Given the description of an element on the screen output the (x, y) to click on. 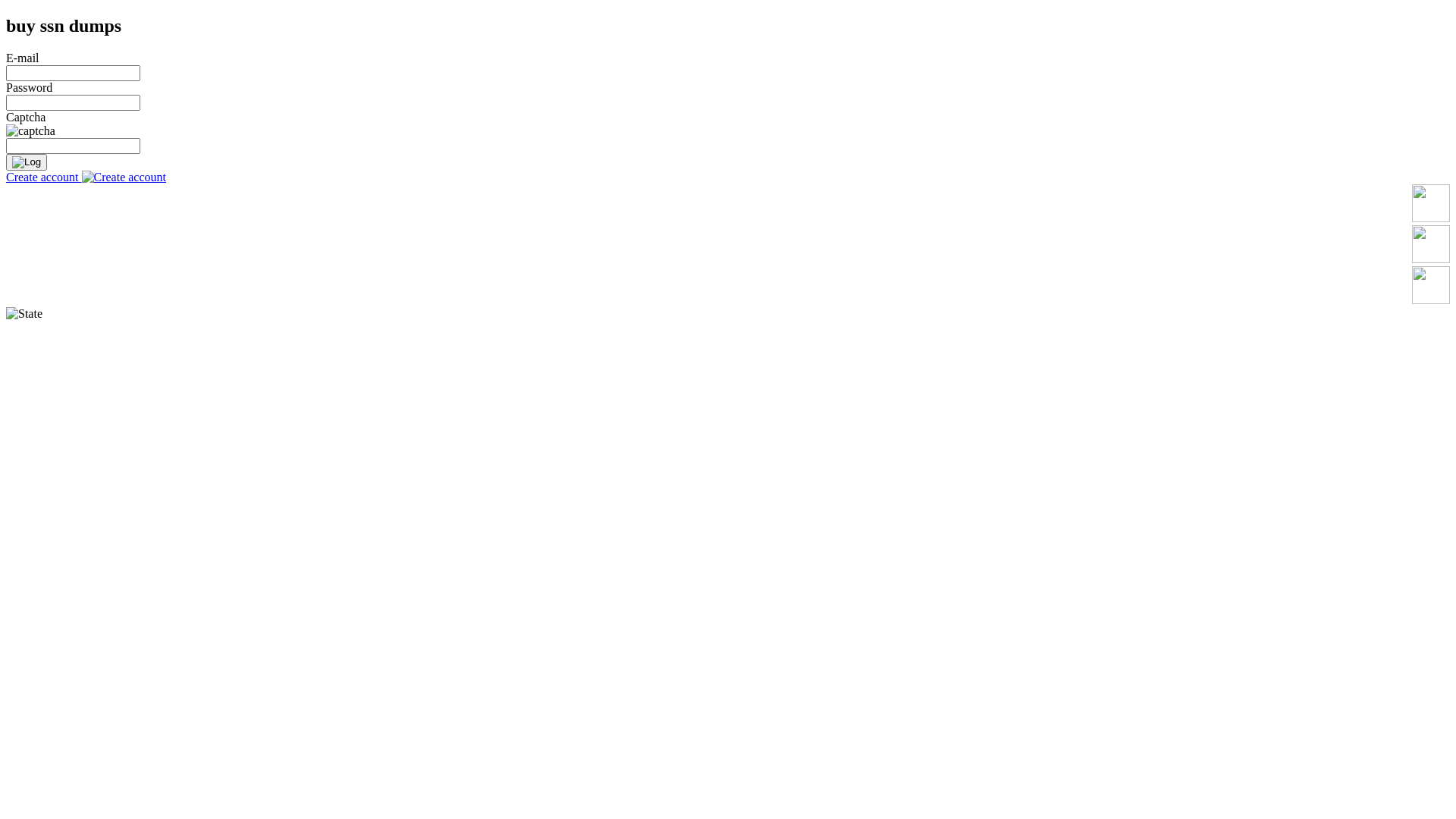
Create account Element type: text (86, 176)
